Given the description of an element on the screen output the (x, y) to click on. 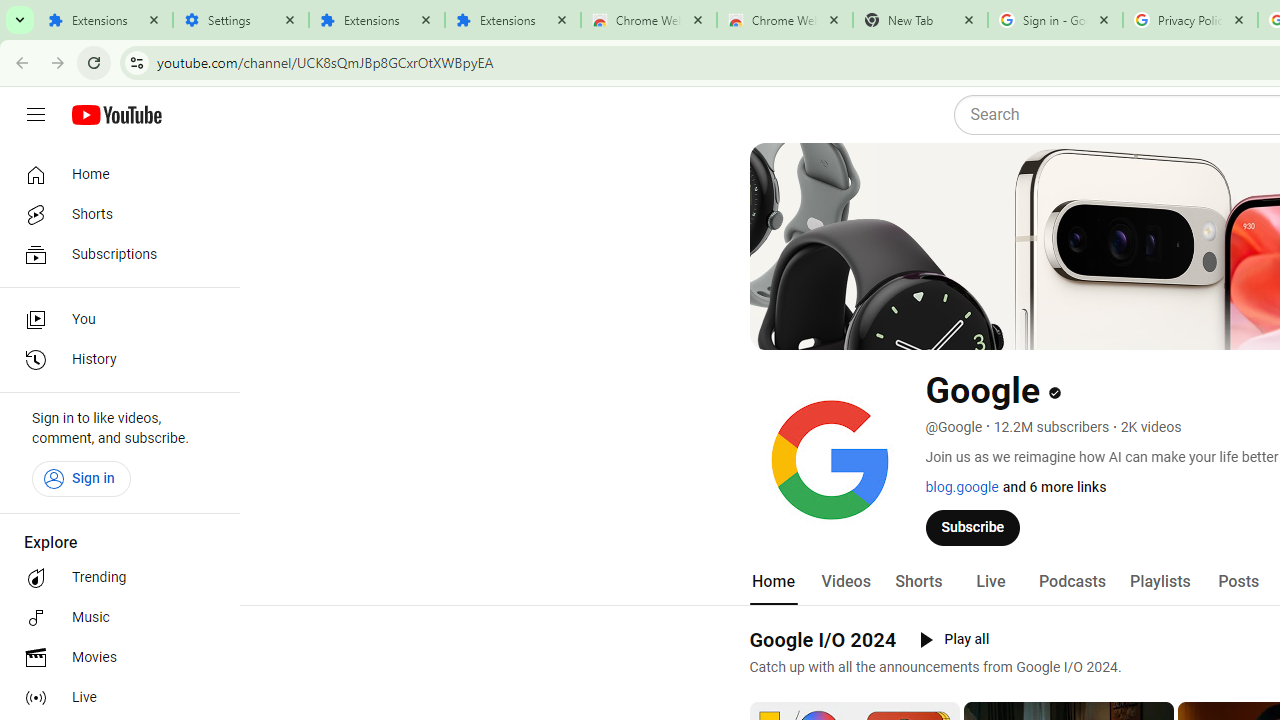
blog.google (961, 487)
Trending (113, 578)
Subscribe (973, 527)
Extensions (376, 20)
Movies (113, 657)
Videos (845, 581)
Play all (954, 640)
and 6 more links (1054, 487)
Google I/O 2024 (822, 639)
Shorts (918, 581)
